Given the description of an element on the screen output the (x, y) to click on. 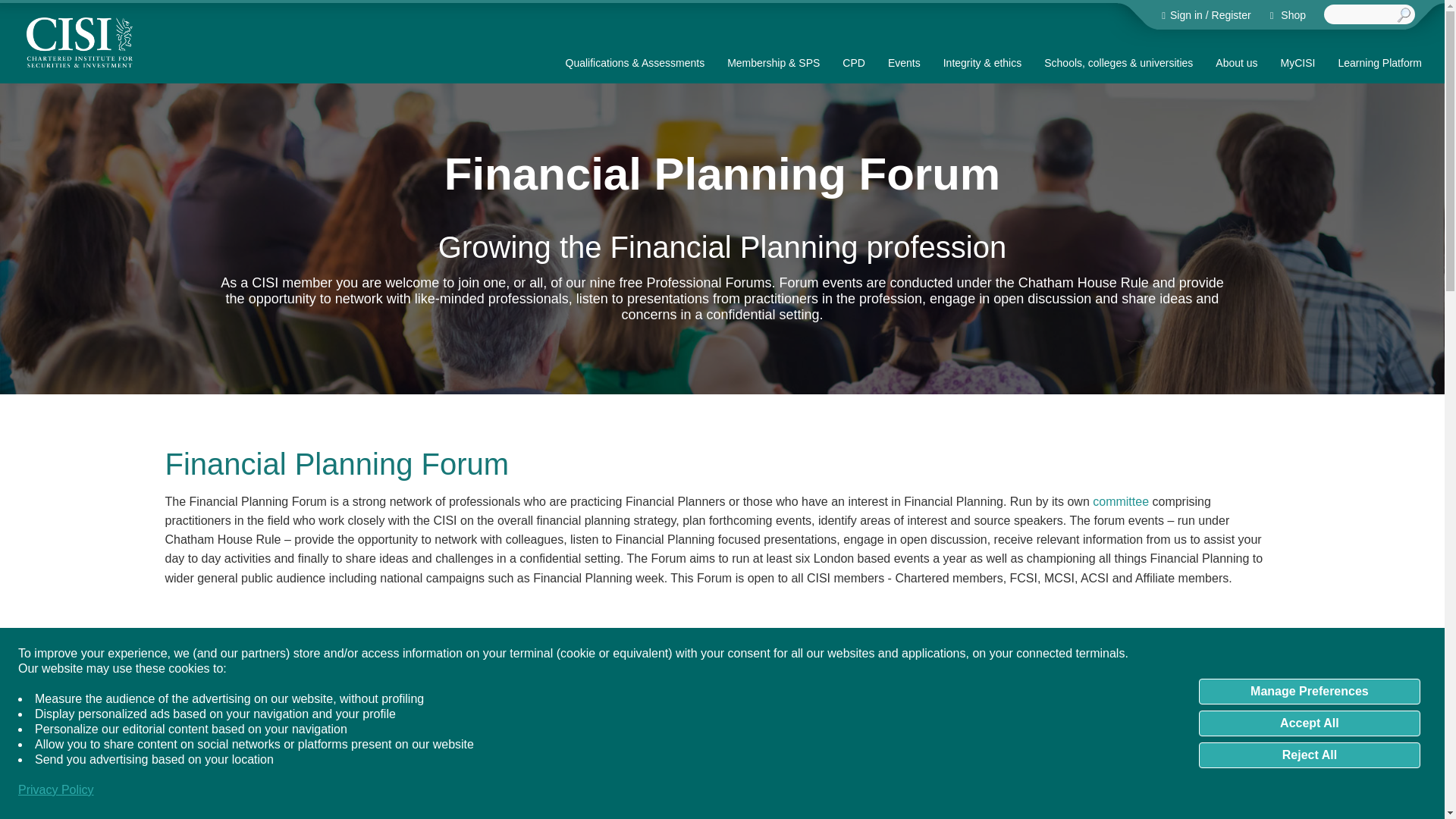
Search (1404, 14)
Shop (1287, 14)
Reject All (1309, 755)
Manage Preferences (1309, 691)
Sign in (1184, 14)
Accept All (1309, 723)
Search (1404, 14)
Privacy Policy (55, 789)
Search (1404, 14)
Register (1230, 14)
